Given the description of an element on the screen output the (x, y) to click on. 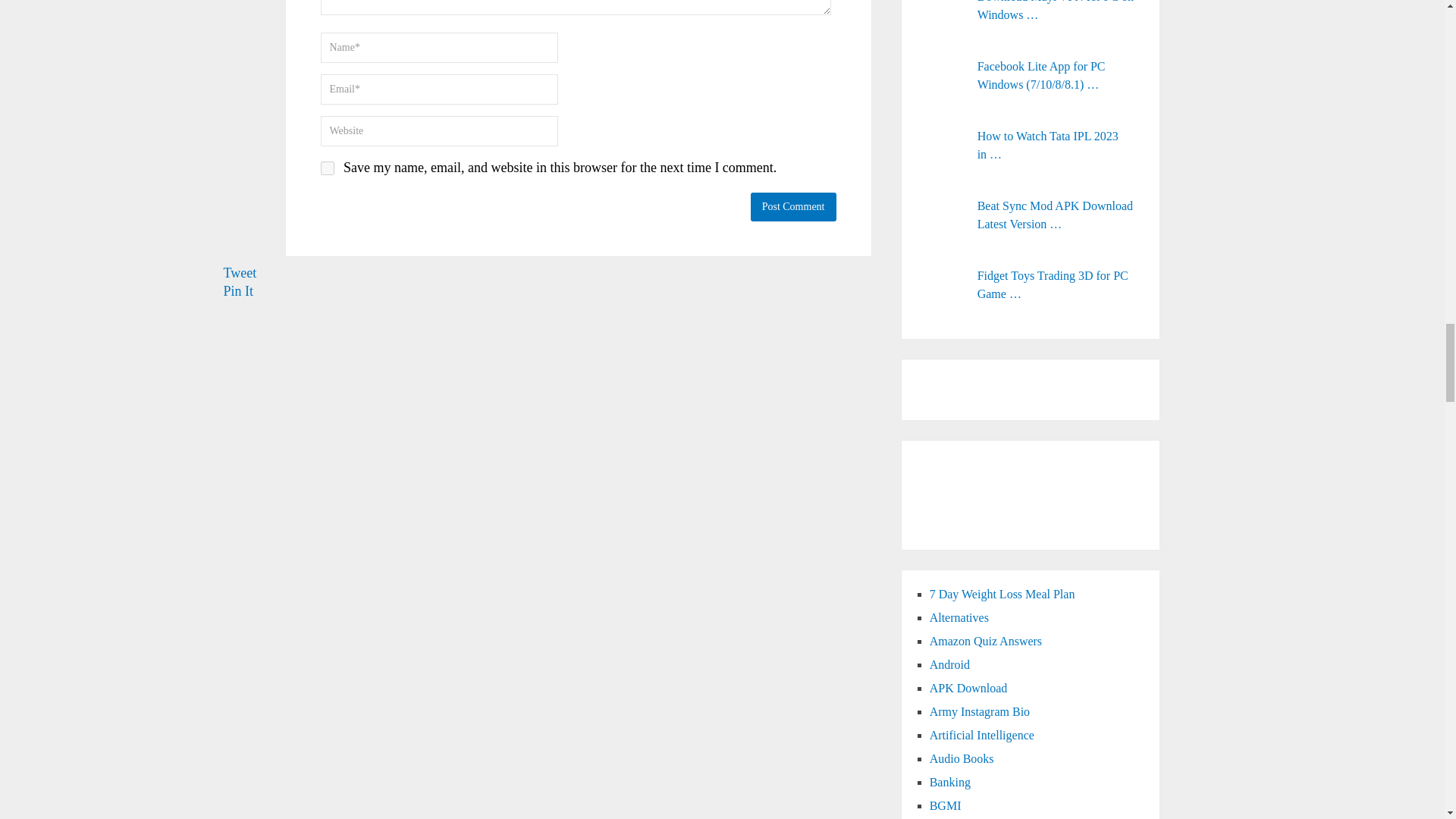
Post Comment (793, 206)
Post Comment (793, 206)
yes (326, 168)
